Given the description of an element on the screen output the (x, y) to click on. 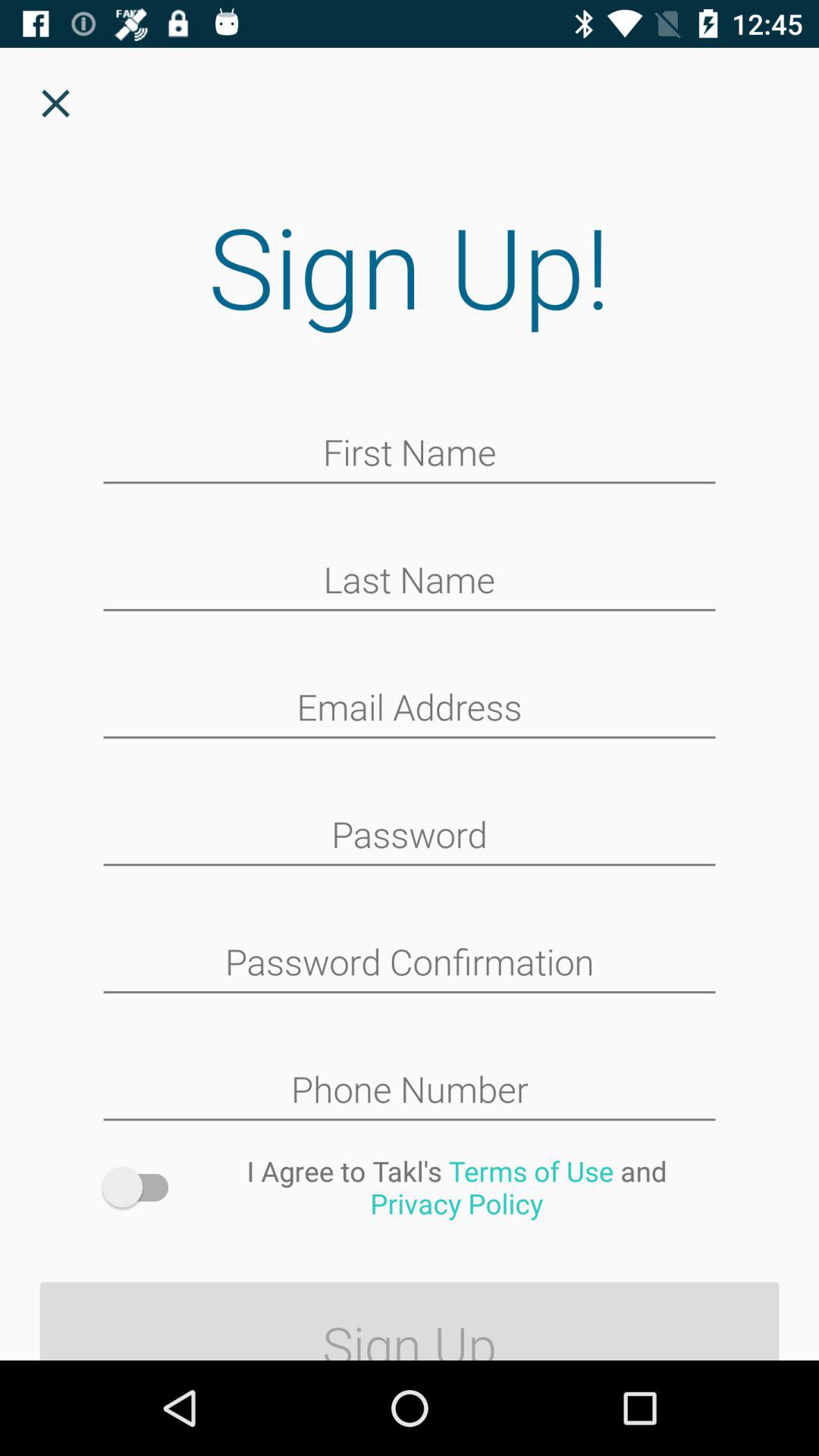
turn off item at the bottom left corner (142, 1187)
